Given the description of an element on the screen output the (x, y) to click on. 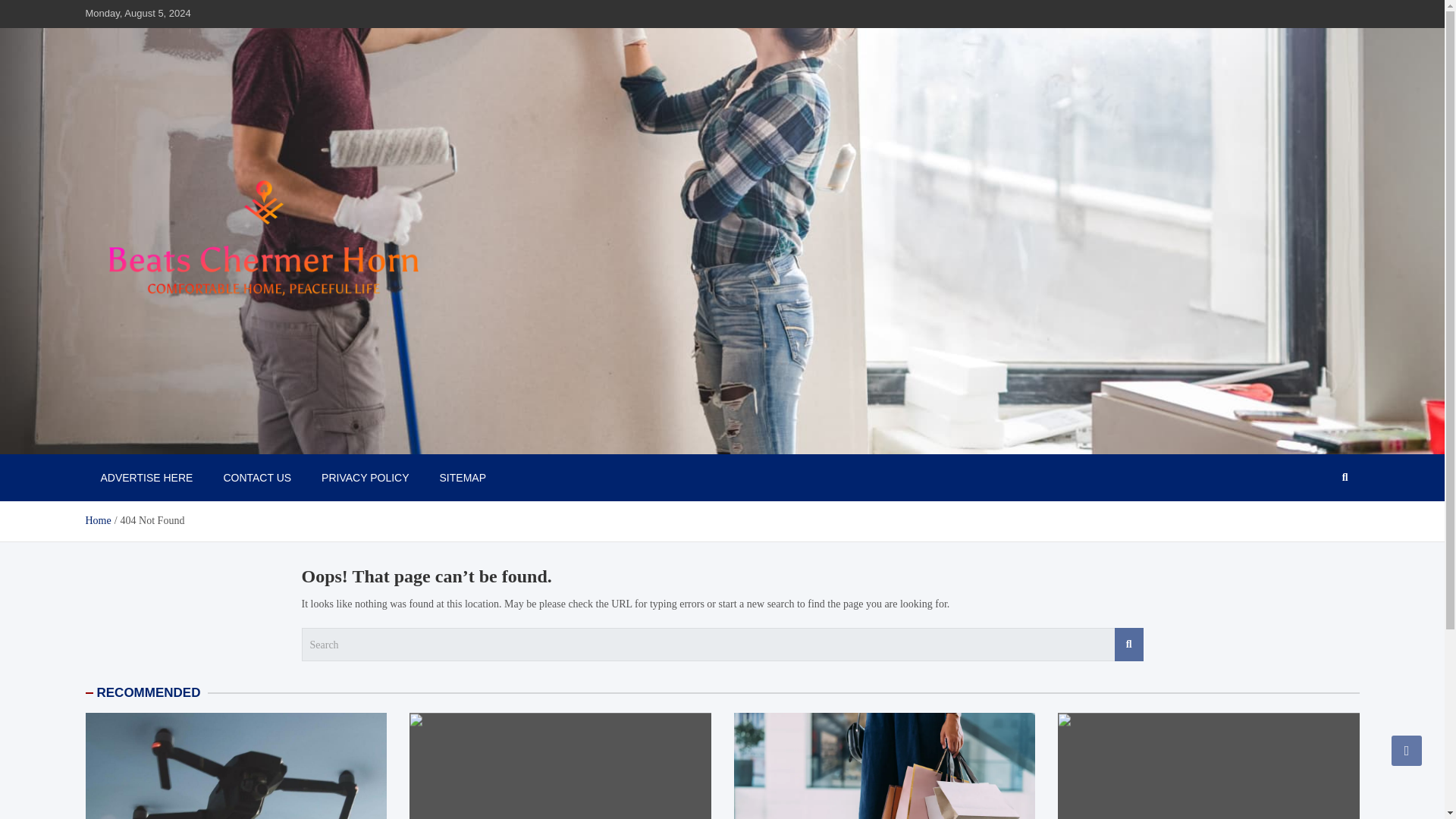
Beats Chermer Horn (193, 437)
ADVERTISE HERE (146, 477)
SITEMAP (462, 477)
RECOMMENDED (148, 692)
Go to Top (1406, 750)
PRIVACY POLICY (364, 477)
CONTACT US (256, 477)
Home (97, 520)
